Given the description of an element on the screen output the (x, y) to click on. 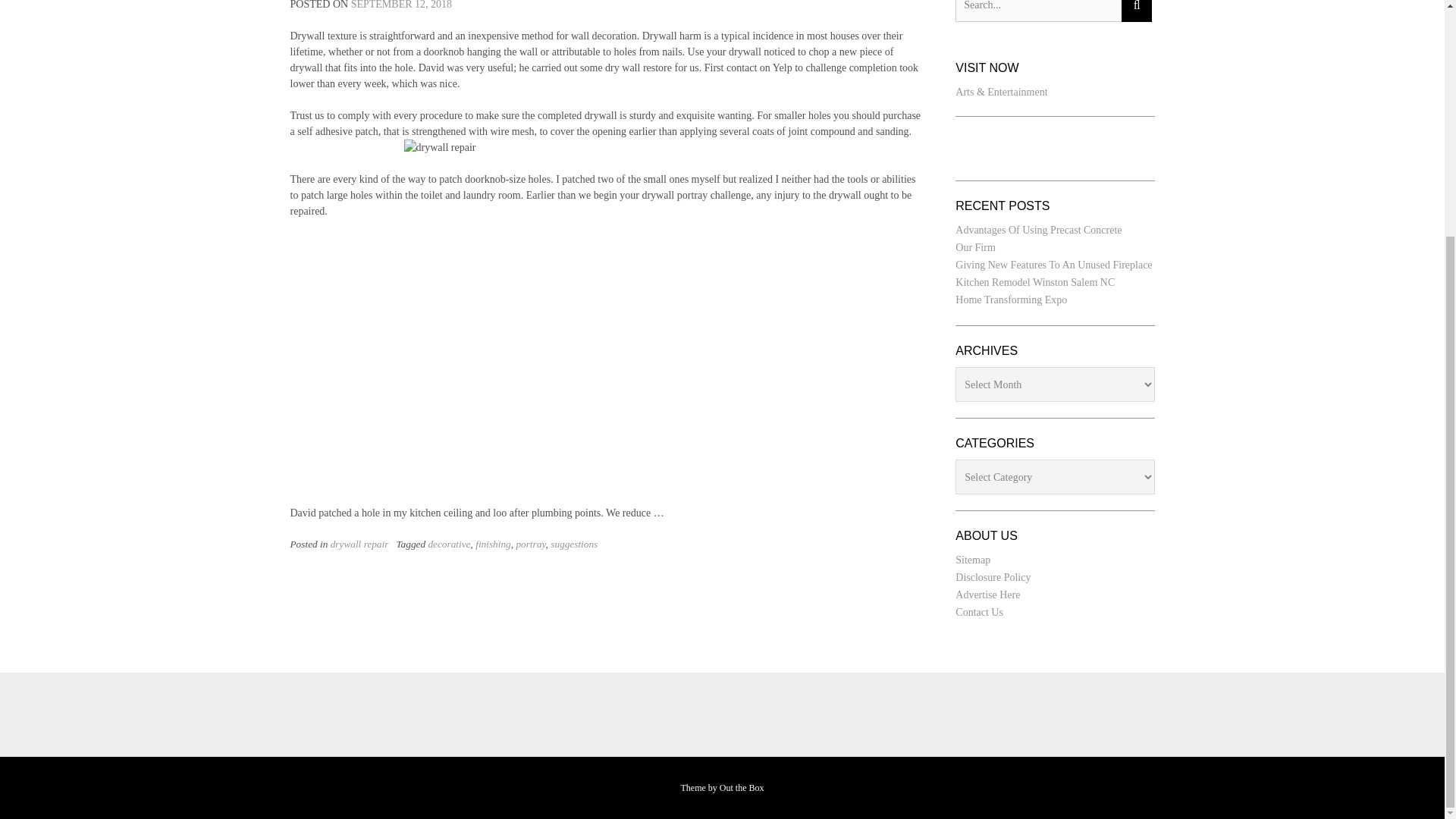
Search for: (1038, 11)
drywall repair (359, 543)
SEPTEMBER 12, 2018 (400, 4)
decorative (449, 543)
